Given the description of an element on the screen output the (x, y) to click on. 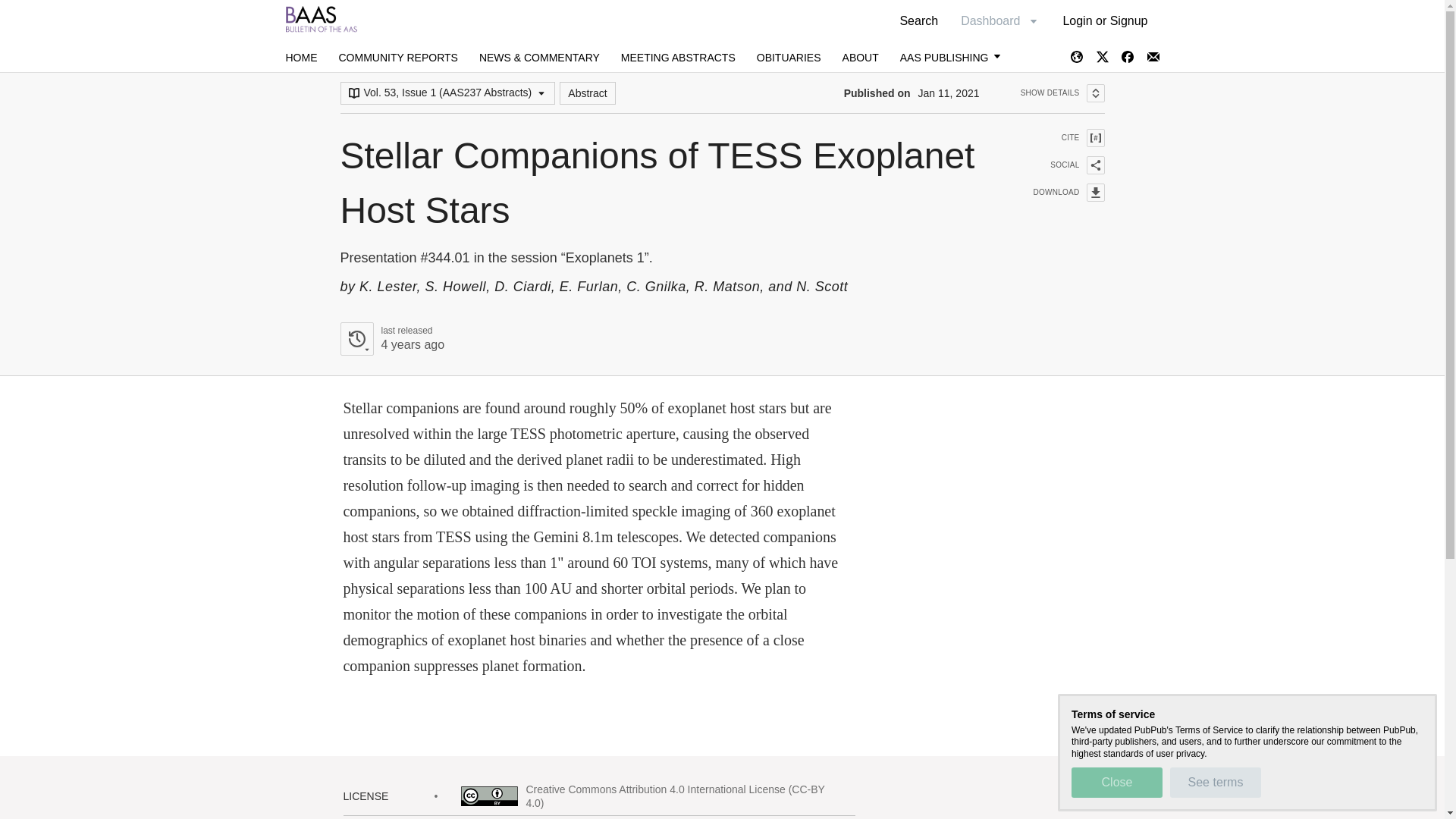
OBITUARIES (789, 57)
Search (918, 20)
Close (1116, 782)
CITE (1058, 137)
ABOUT (861, 57)
COMMUNITY REPORTS (397, 57)
Abstract (586, 92)
HOME (301, 57)
MEETING ABSTRACTS (678, 57)
See terms (391, 338)
DOWNLOAD (1215, 782)
SHOW DETAILS (1058, 192)
Login or Signup (1062, 93)
SOCIAL (1104, 20)
